Given the description of an element on the screen output the (x, y) to click on. 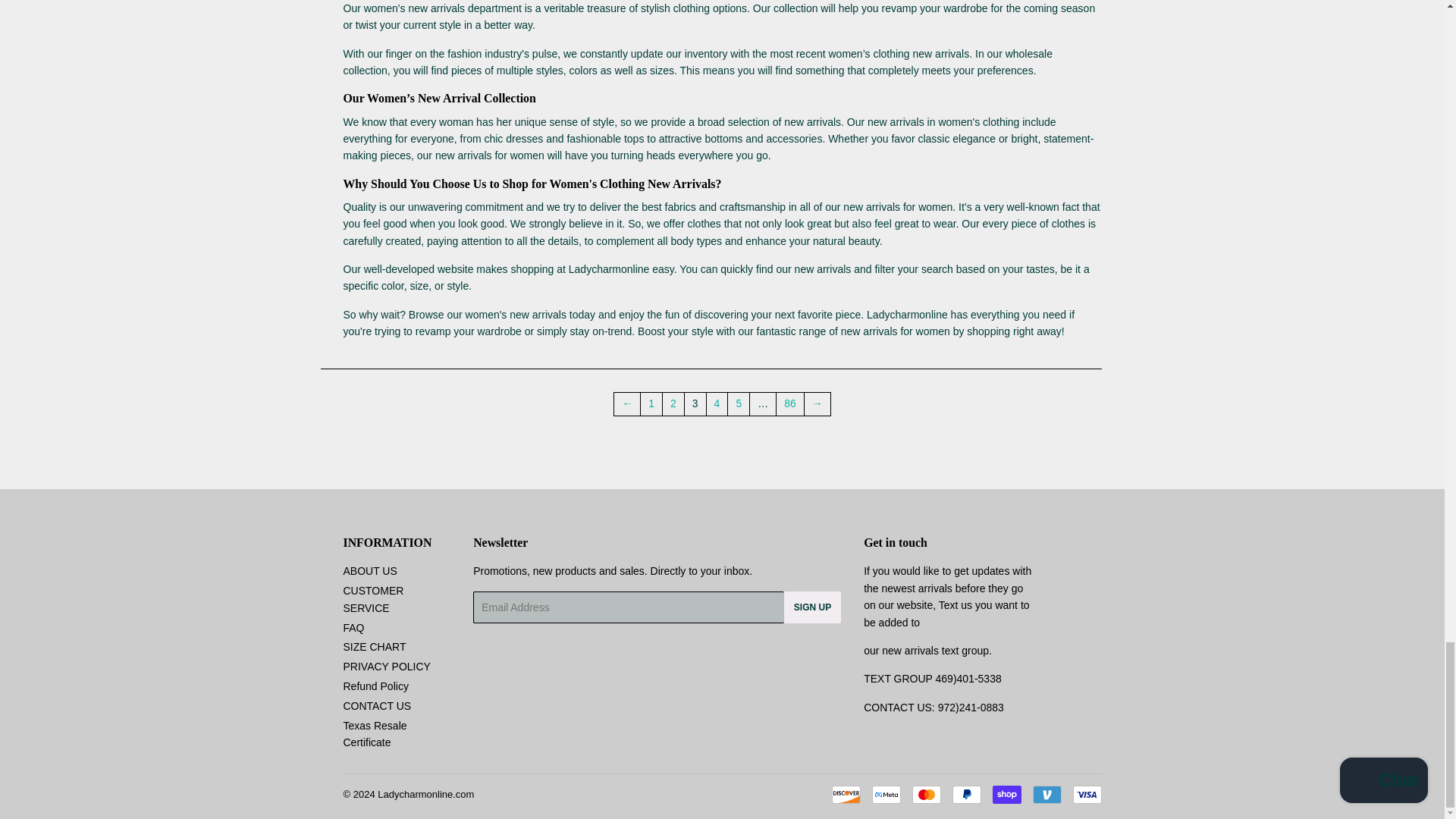
Mastercard (925, 794)
Shop Pay (1005, 794)
Venmo (1046, 794)
PayPal (966, 794)
Discover (845, 794)
Meta Pay (886, 794)
Visa (1085, 794)
